Given the description of an element on the screen output the (x, y) to click on. 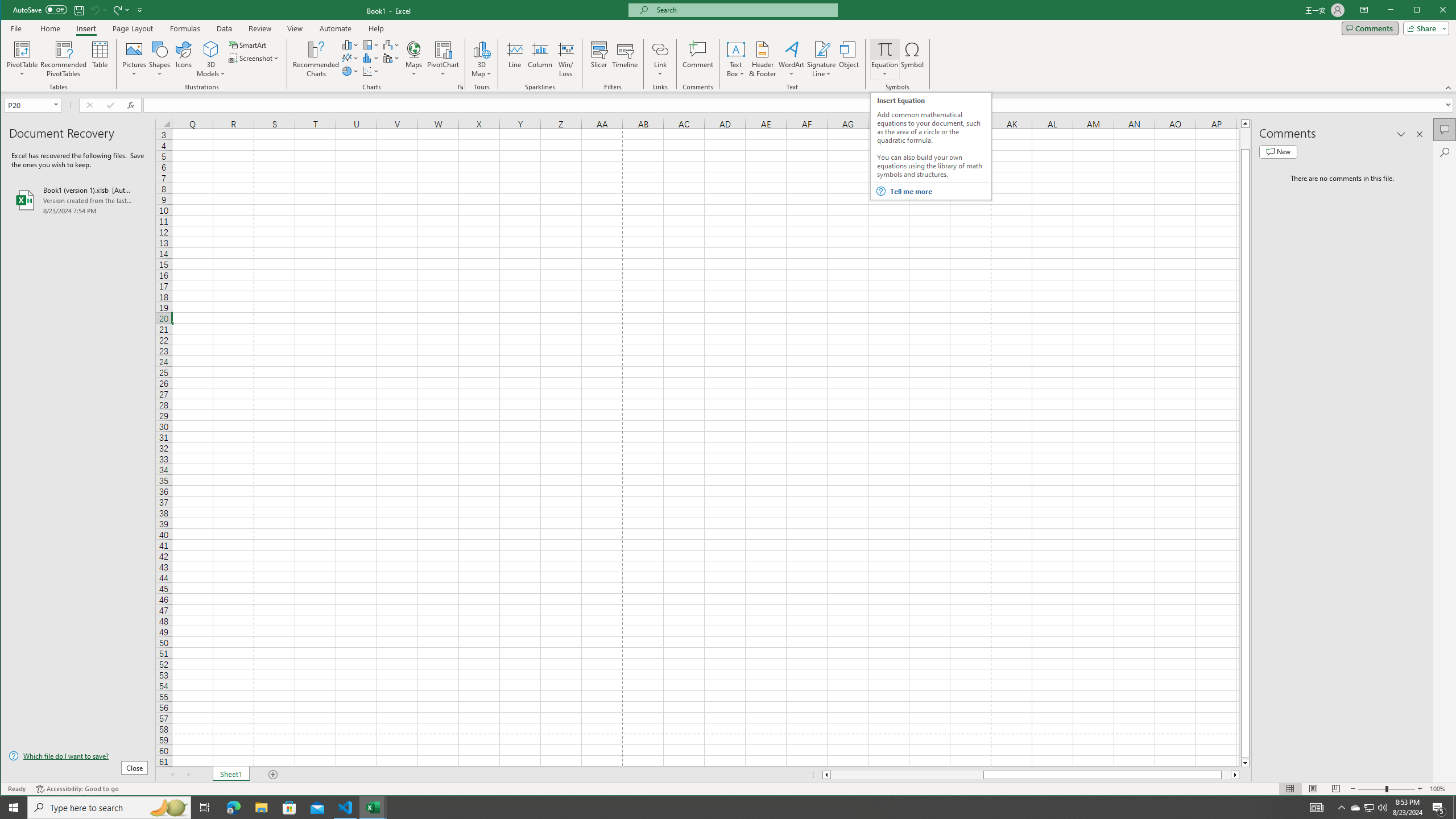
Insert Line or Area Chart (350, 57)
Link (659, 59)
Maximize (1432, 11)
Q2790: 100% (1382, 807)
Equation (884, 59)
Object... (848, 59)
Task View (204, 807)
Action Center, 5 new notifications (1439, 807)
Page up (1245, 138)
3D Map (481, 48)
